Given the description of an element on the screen output the (x, y) to click on. 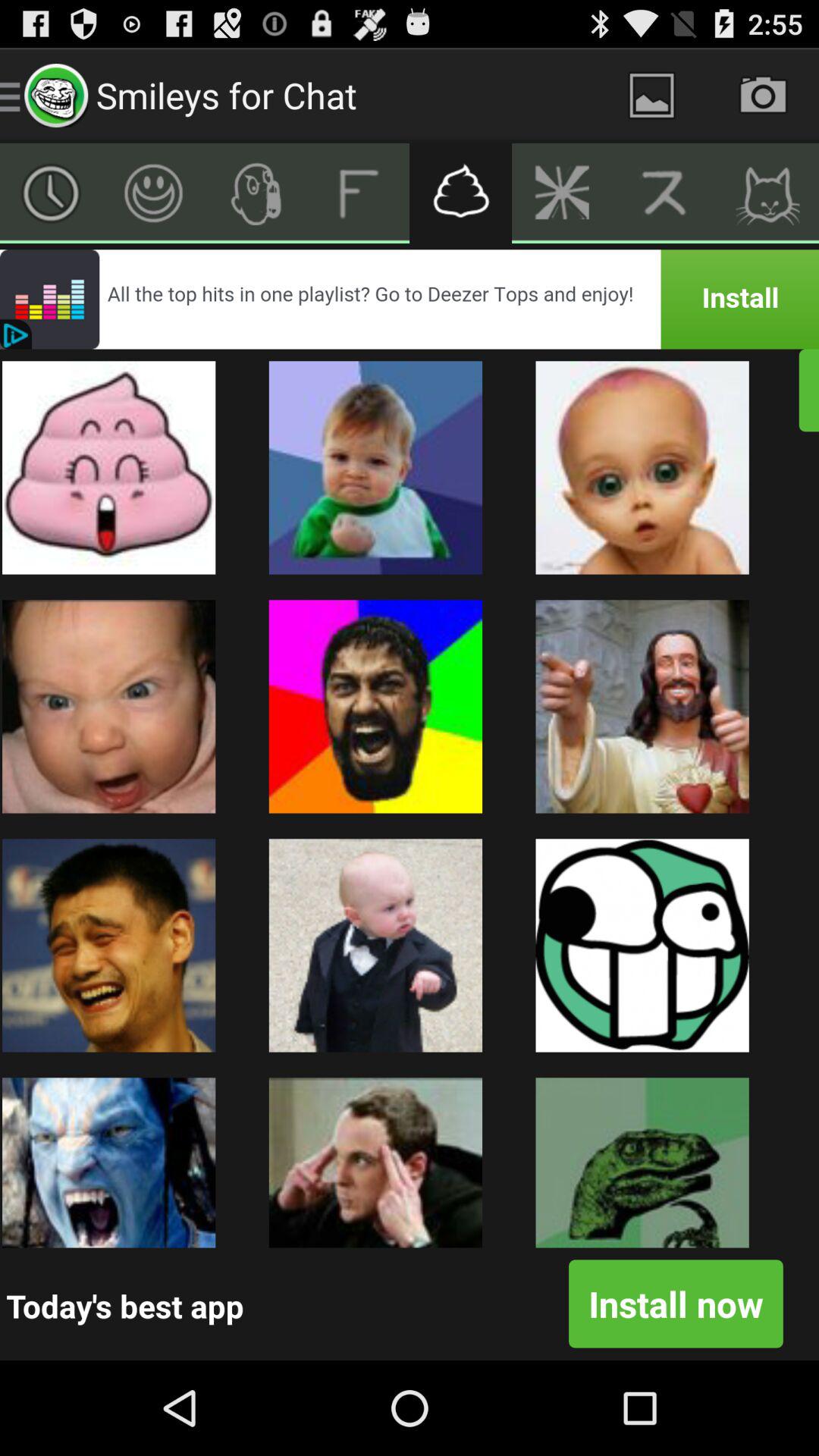
extract install (767, 193)
